Given the description of an element on the screen output the (x, y) to click on. 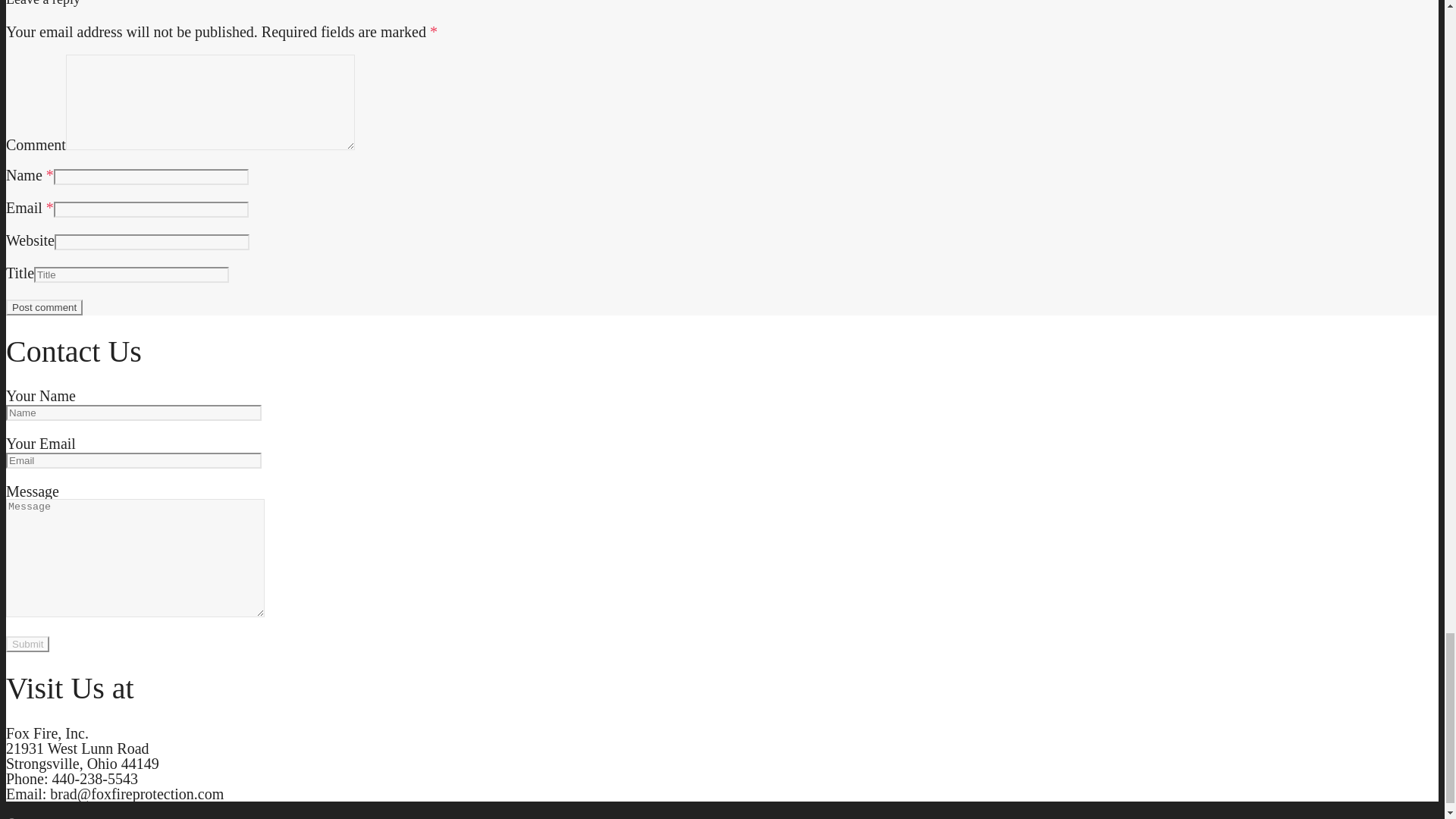
Submit (27, 643)
Post comment (43, 307)
Post comment (43, 307)
